Given the description of an element on the screen output the (x, y) to click on. 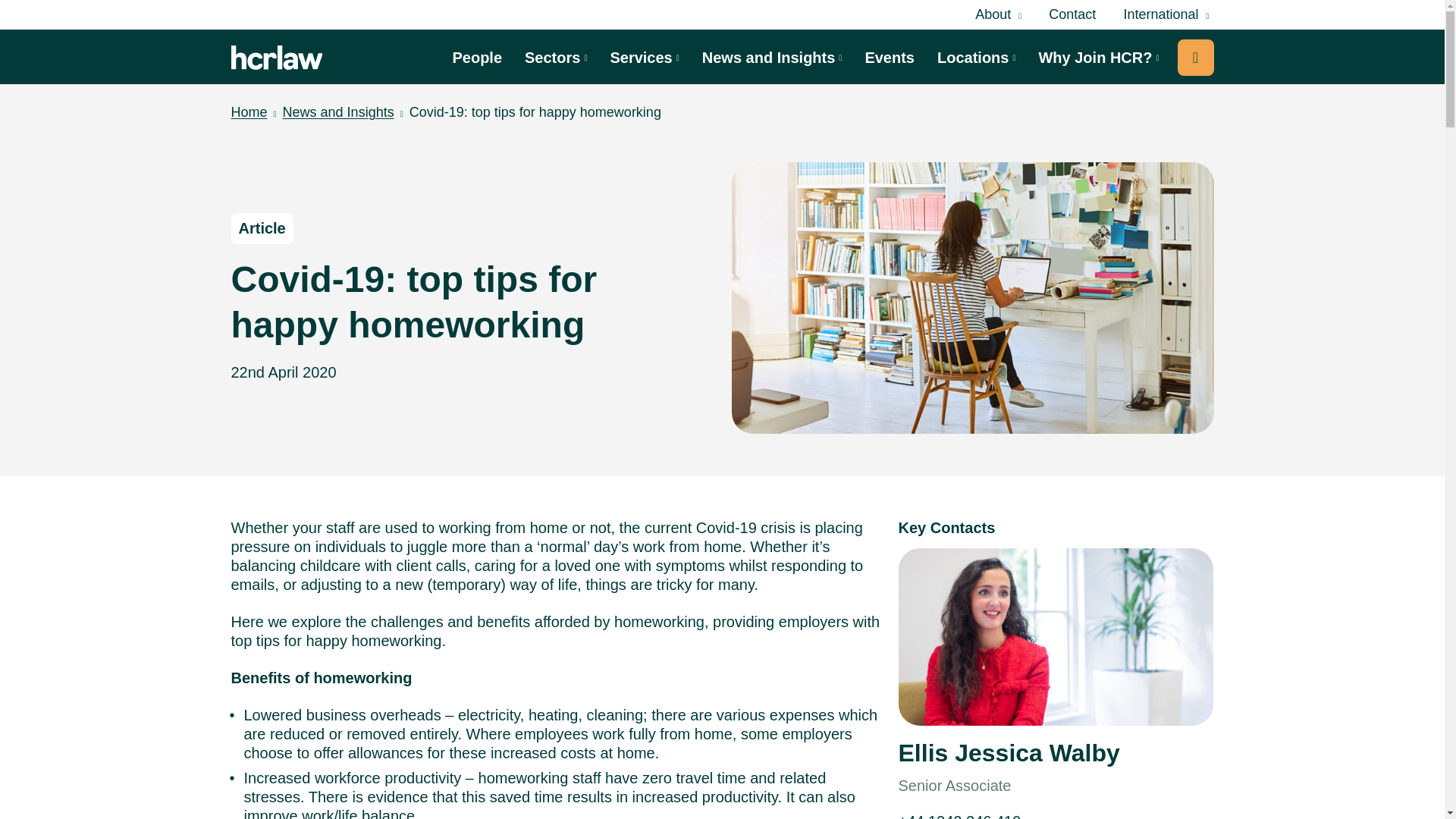
International (1165, 14)
About (998, 14)
Contact (1072, 14)
